Given the description of an element on the screen output the (x, y) to click on. 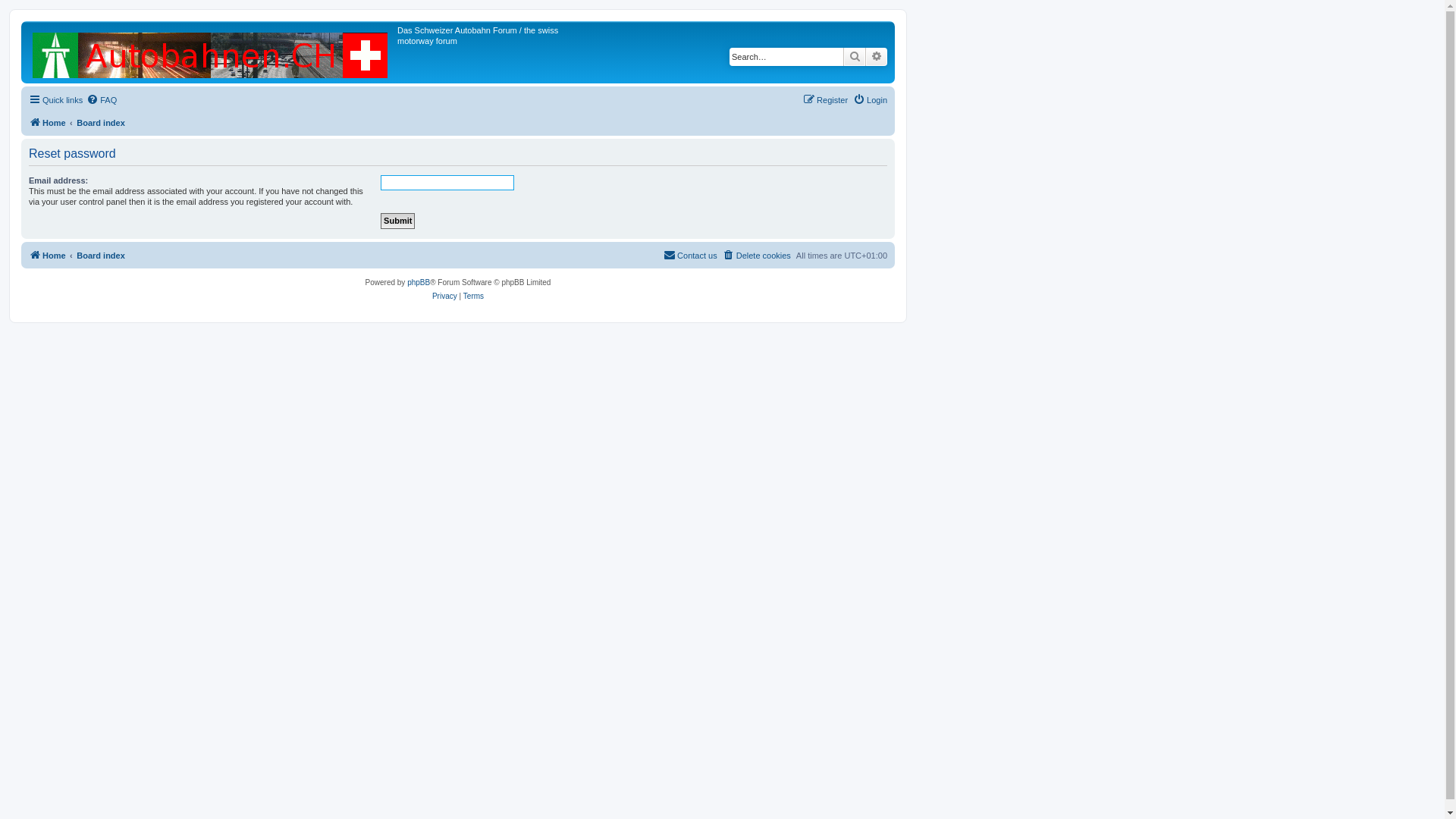
Board index Element type: text (100, 122)
Home Element type: text (46, 255)
Register Element type: text (825, 100)
Submit Element type: text (397, 221)
FAQ Element type: text (101, 100)
phpBB Element type: text (418, 282)
Advanced search Element type: text (876, 56)
Contact us Element type: text (690, 255)
Delete cookies Element type: text (756, 255)
Home Element type: hover (211, 52)
Board index Element type: text (100, 255)
Quick links Element type: text (55, 100)
Login Element type: text (870, 100)
Home Element type: text (46, 122)
Search for keywords Element type: hover (786, 56)
Search Element type: text (854, 56)
Privacy Element type: text (444, 296)
Terms Element type: text (473, 296)
